Given the description of an element on the screen output the (x, y) to click on. 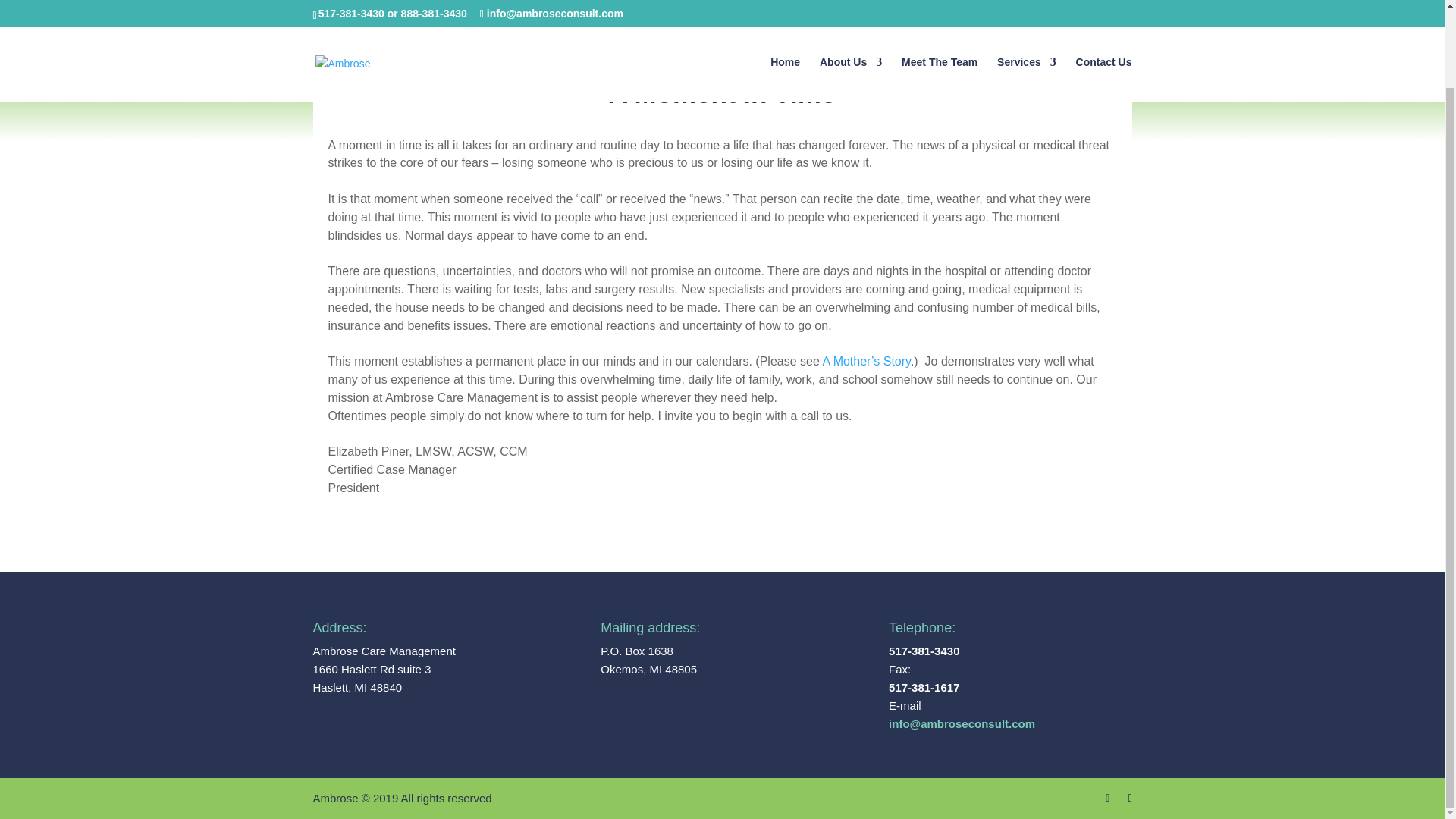
Contact Us (1103, 7)
Home (784, 7)
About Us (850, 7)
Meet The Team (938, 7)
Services (1027, 7)
